Given the description of an element on the screen output the (x, y) to click on. 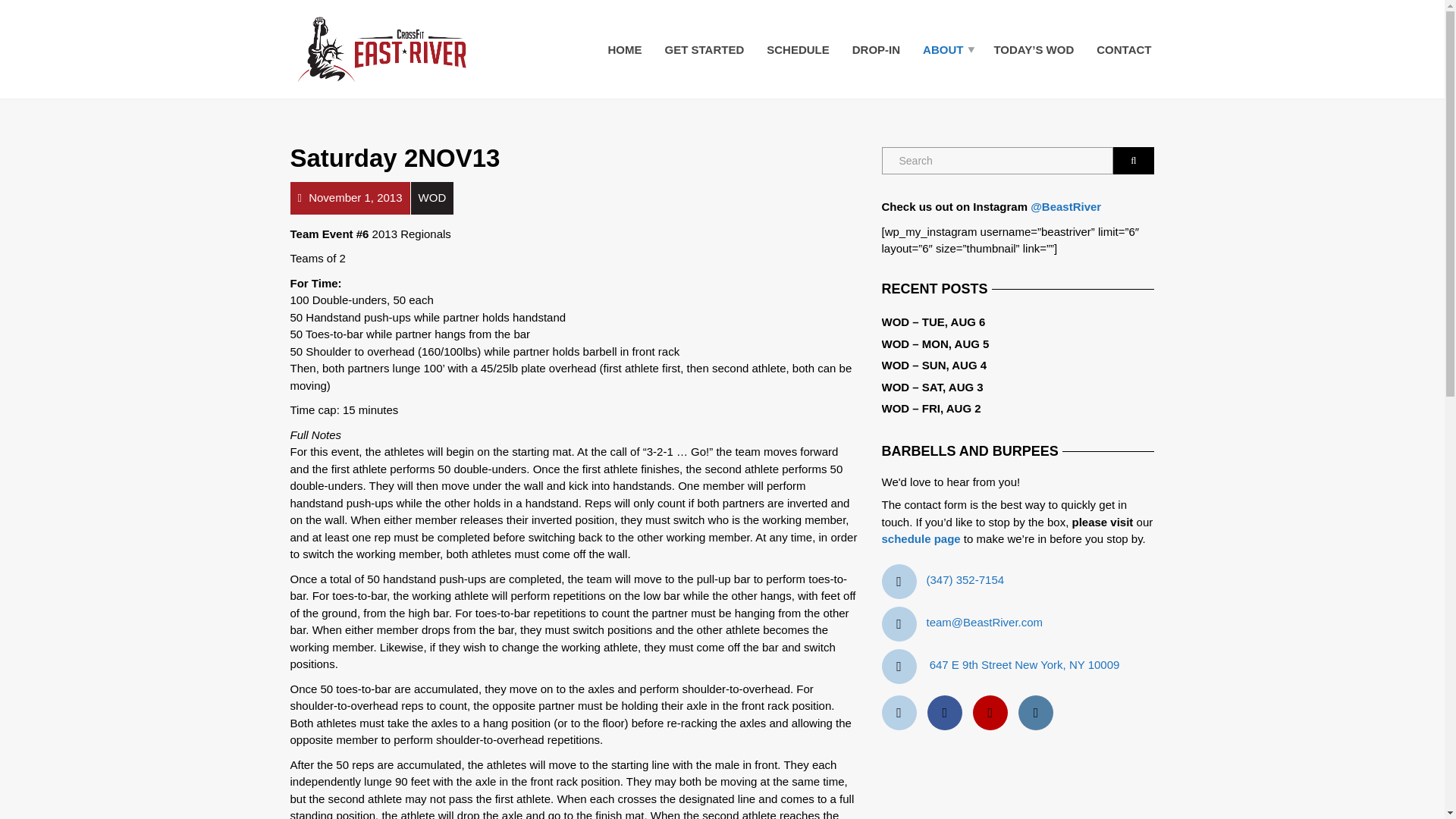
About (946, 49)
Contact (1122, 49)
Yelp (901, 712)
Today's WOD (1032, 49)
WOD (432, 196)
DROP-IN (876, 49)
647 E 9th Street New York, NY 10009 (1024, 664)
View all posts in category: WOD (432, 196)
Home (623, 49)
GET STARTED (704, 49)
